Given the description of an element on the screen output the (x, y) to click on. 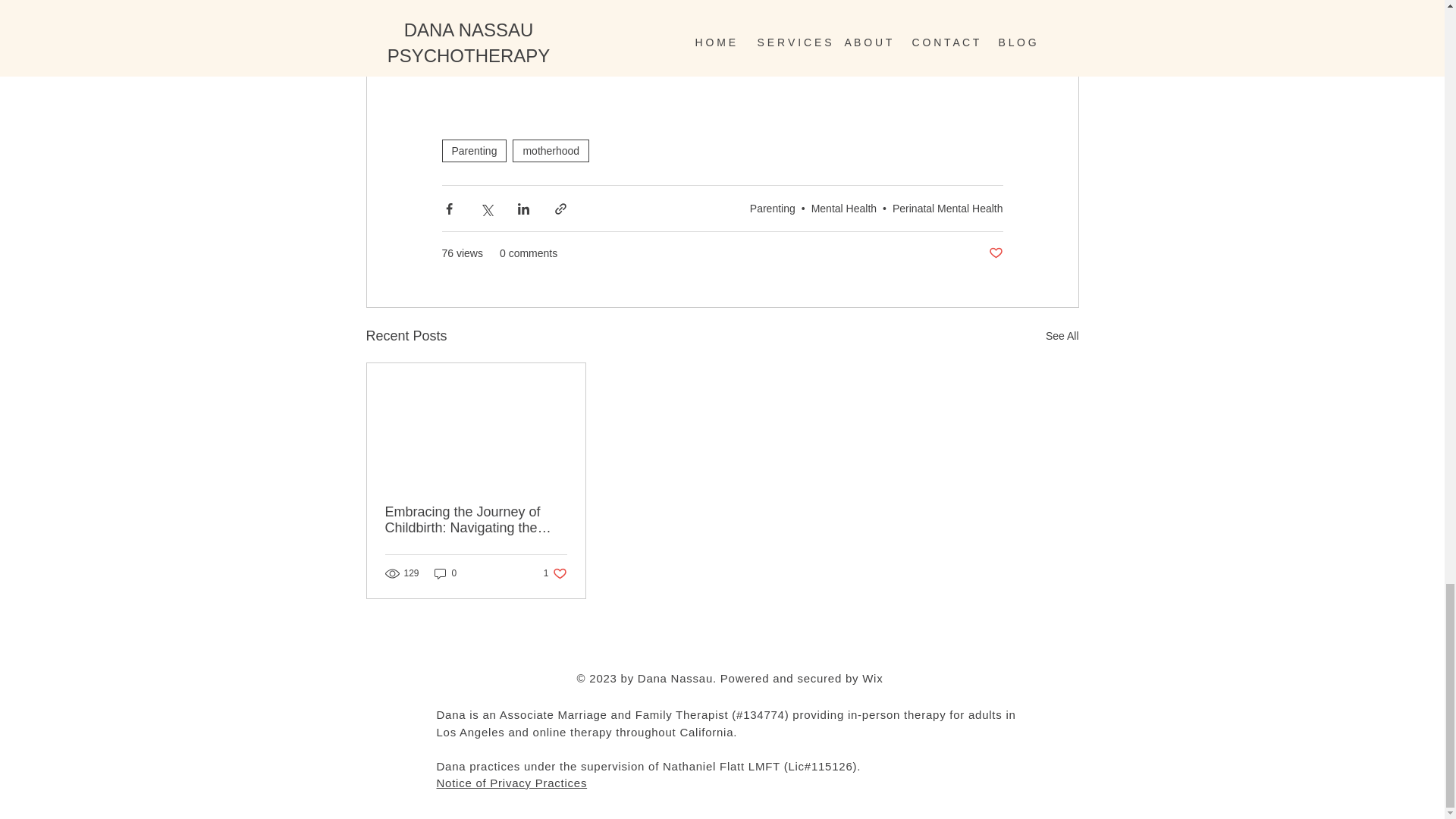
Mental Health (843, 208)
motherhood (550, 150)
See All (1061, 336)
0 (445, 573)
Perinatal Mental Health (947, 208)
Parenting (473, 150)
Post not marked as liked (995, 253)
Parenting (771, 208)
